Given the description of an element on the screen output the (x, y) to click on. 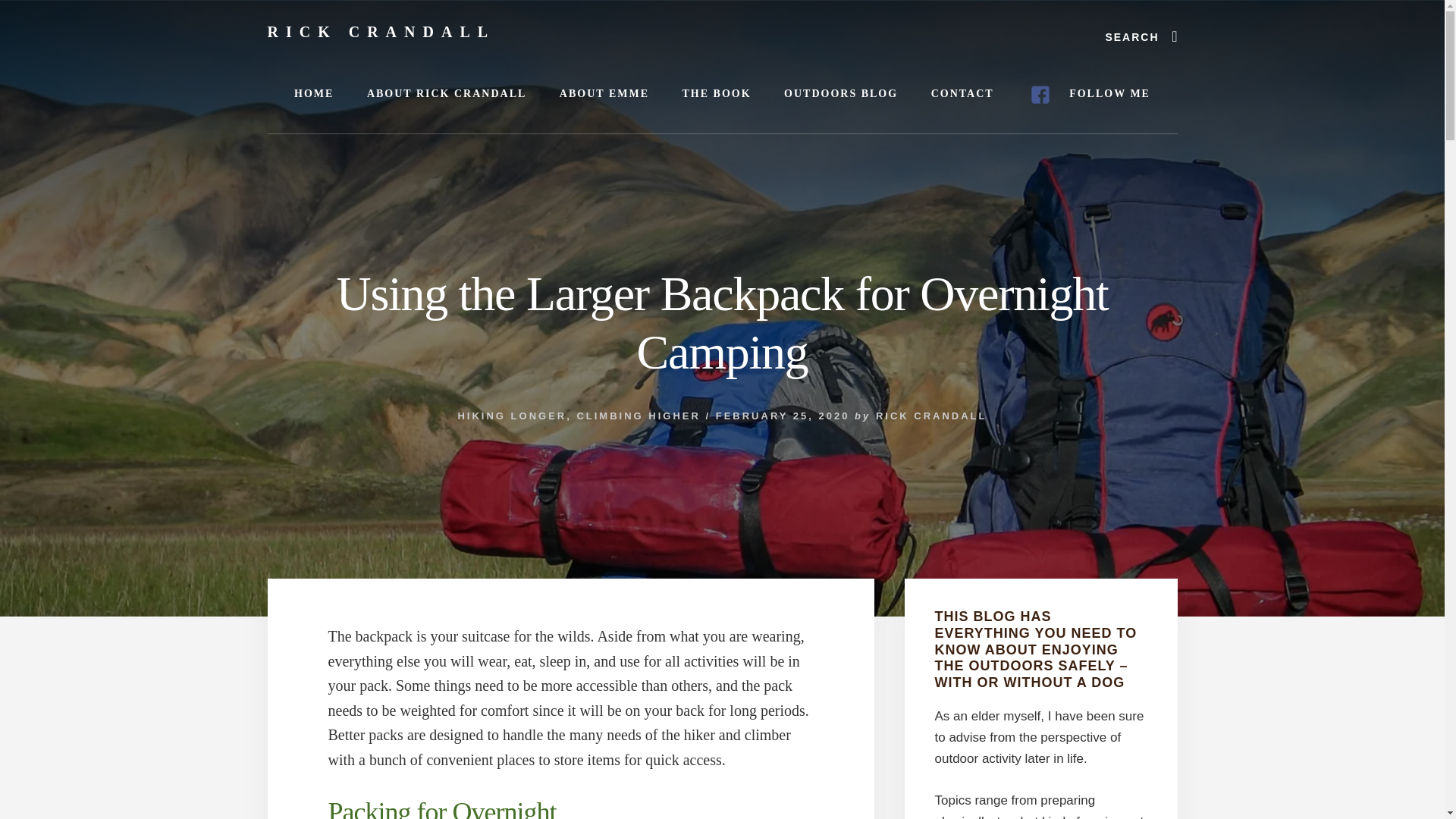
ABOUT RICK CRANDALL (446, 94)
CONTACT (962, 94)
RICK CRANDALL (931, 415)
RICK CRANDALL (380, 31)
FOLLOW ME (1088, 94)
HOME (314, 94)
ABOUT EMME (603, 94)
OUTDOORS BLOG (840, 94)
THE BOOK (715, 94)
HIKING LONGER, CLIMBING HIGHER (578, 415)
